Given the description of an element on the screen output the (x, y) to click on. 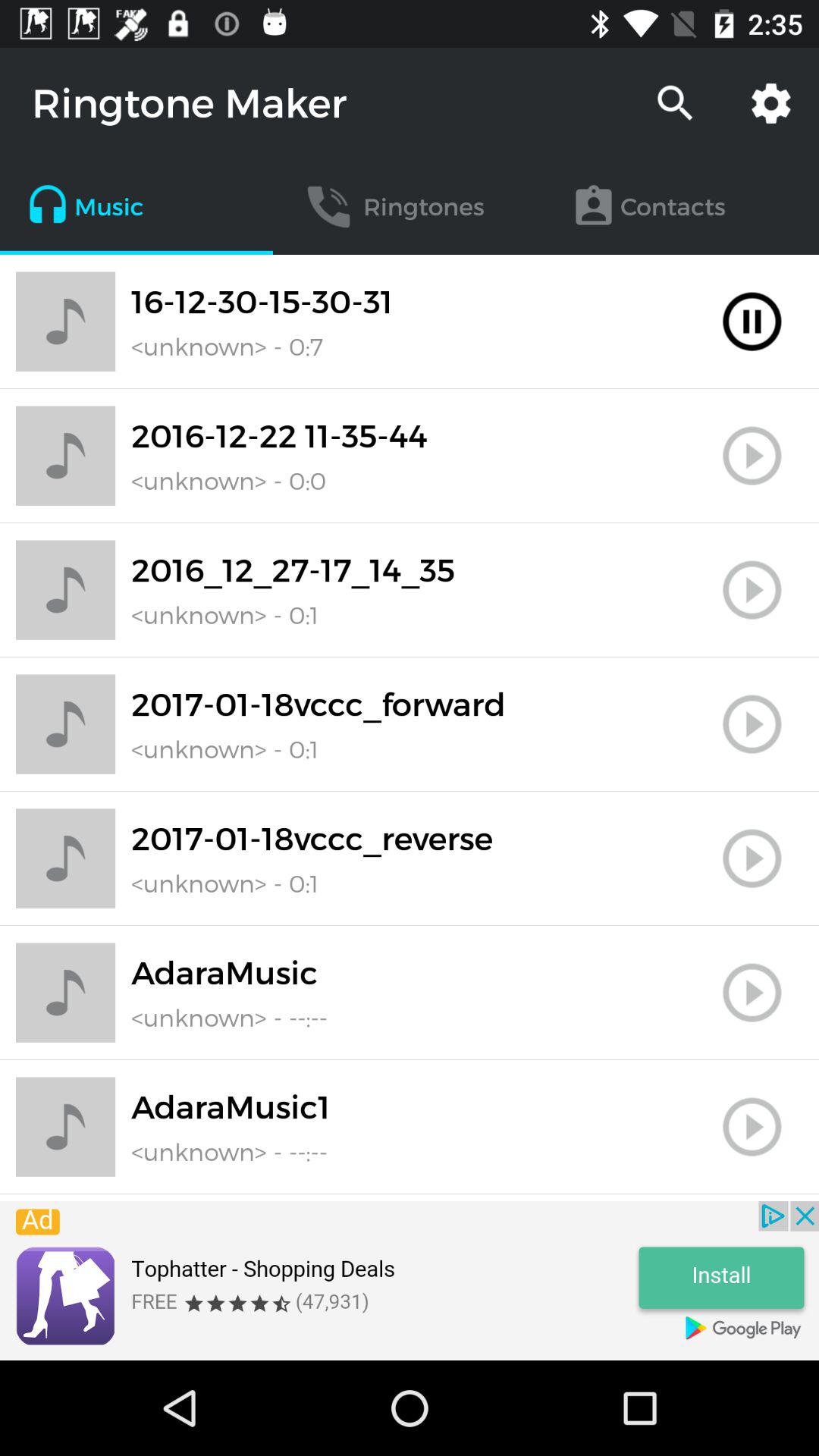
toggle pause option (752, 321)
